Given the description of an element on the screen output the (x, y) to click on. 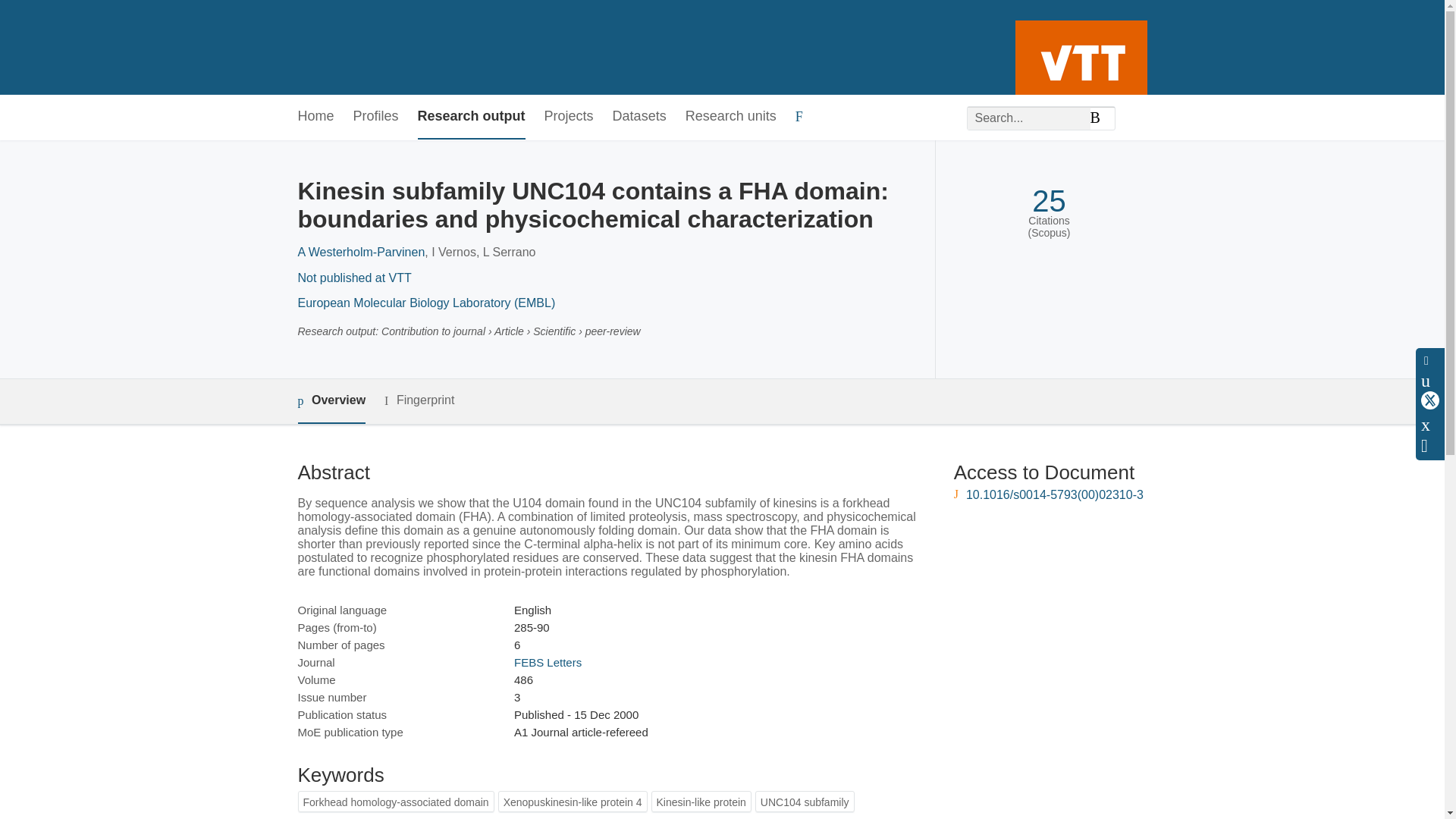
A Westerholm-Parvinen (361, 251)
Research output (471, 117)
Datasets (639, 117)
Projects (569, 117)
Profiles (375, 117)
Research units (730, 117)
Fingerprint (419, 400)
VTT's Research Information Portal Home (322, 47)
Not published at VTT (353, 277)
